Given the description of an element on the screen output the (x, y) to click on. 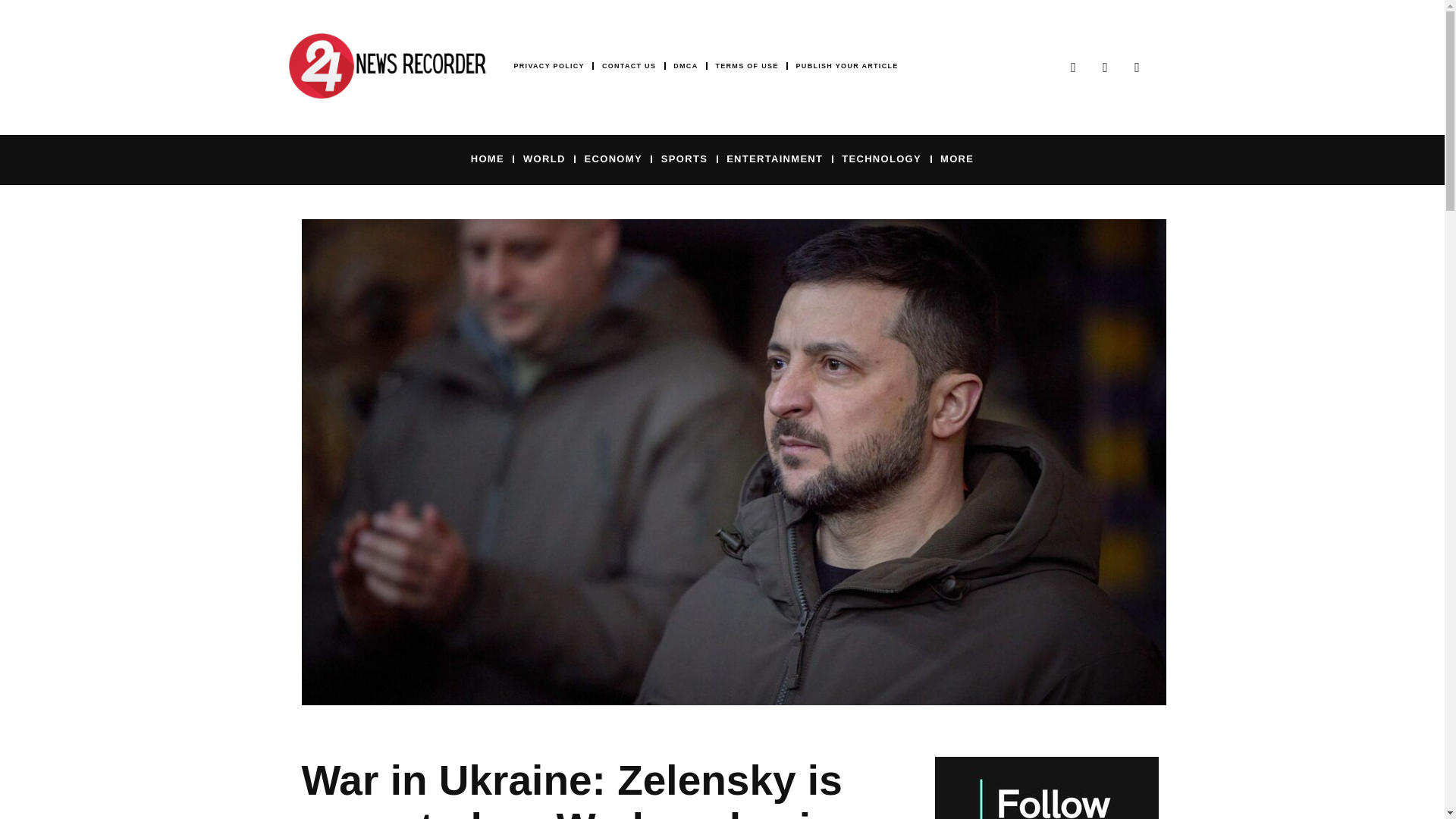
WORLD (544, 158)
SPORTS (684, 158)
PUBLISH YOUR ARTICLE (847, 66)
MORE (957, 158)
Skip to content (11, 31)
PRIVACY POLICY (549, 66)
TECHNOLOGY (881, 158)
DMCA (684, 66)
ENTERTAINMENT (774, 158)
HOME (486, 158)
TERMS OF USE (745, 66)
CONTACT US (628, 66)
ECONOMY (613, 158)
